Given the description of an element on the screen output the (x, y) to click on. 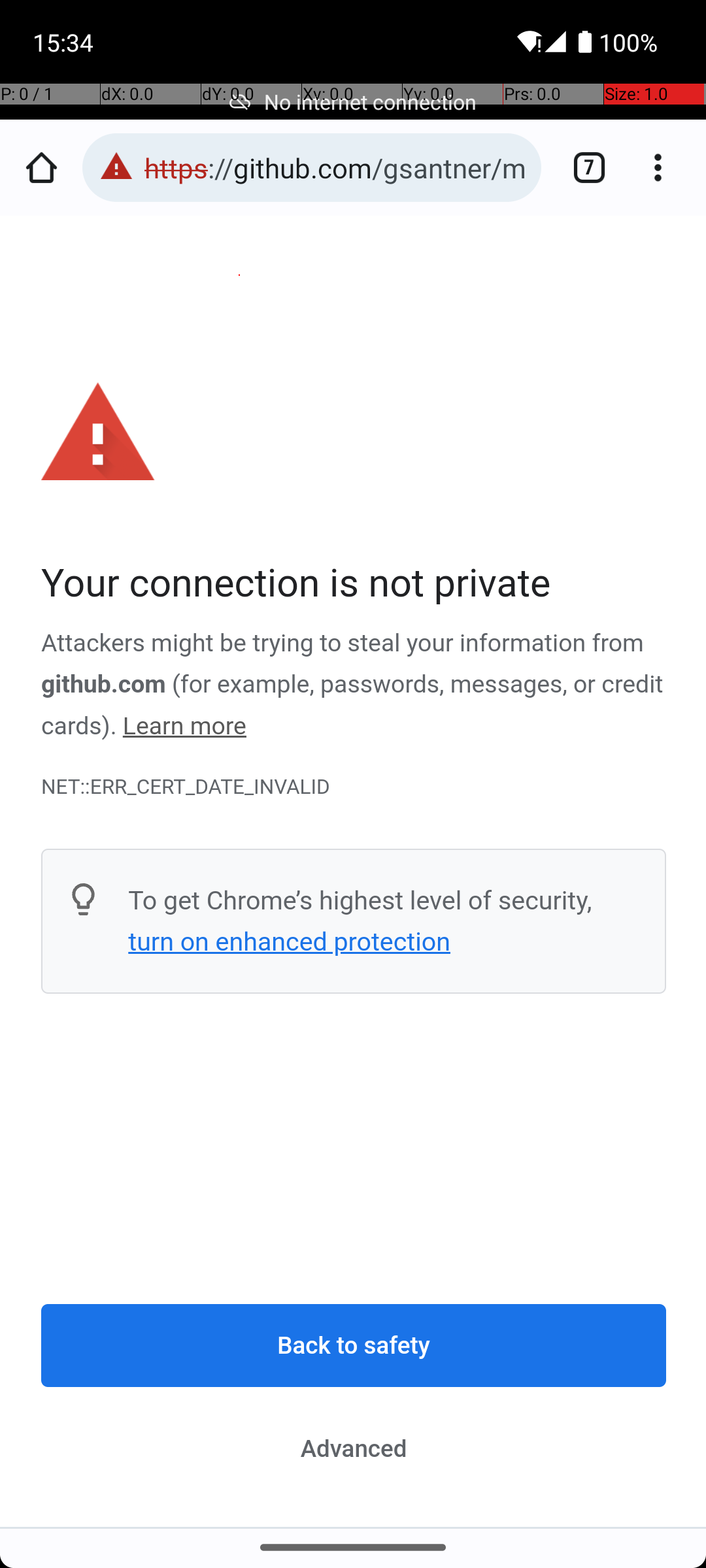
https://github.com/gsantner/markor Element type: android.widget.EditText (335, 167)
